Given the description of an element on the screen output the (x, y) to click on. 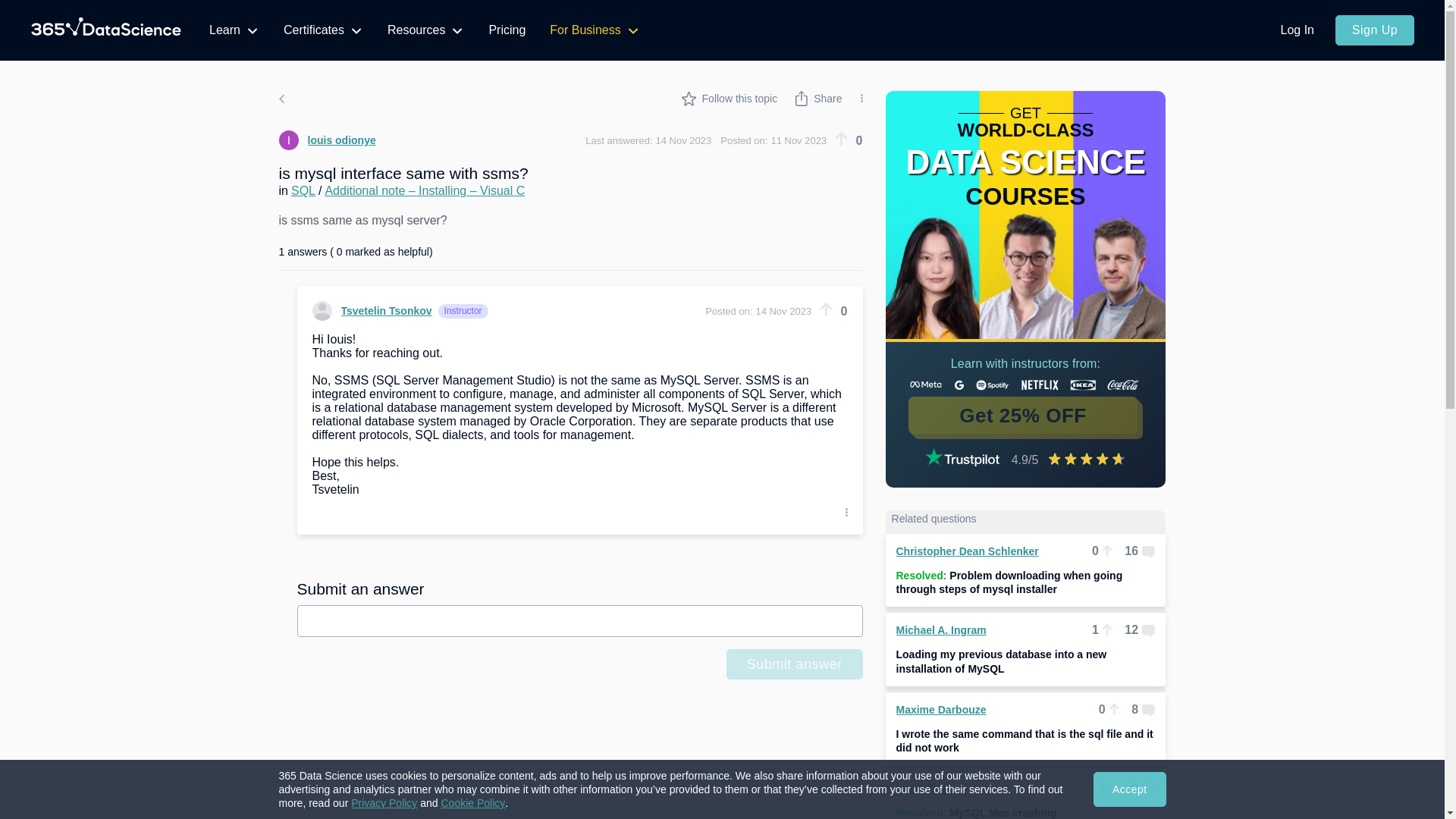
Pricing (506, 29)
Tsvetelin Tsonkov (372, 311)
Log In (1296, 29)
Christopher Dean Schlenker (967, 551)
SQL (303, 191)
365 Data Science (106, 30)
Sign Up (1374, 30)
Pricing (506, 29)
louis odionye (327, 139)
